Given the description of an element on the screen output the (x, y) to click on. 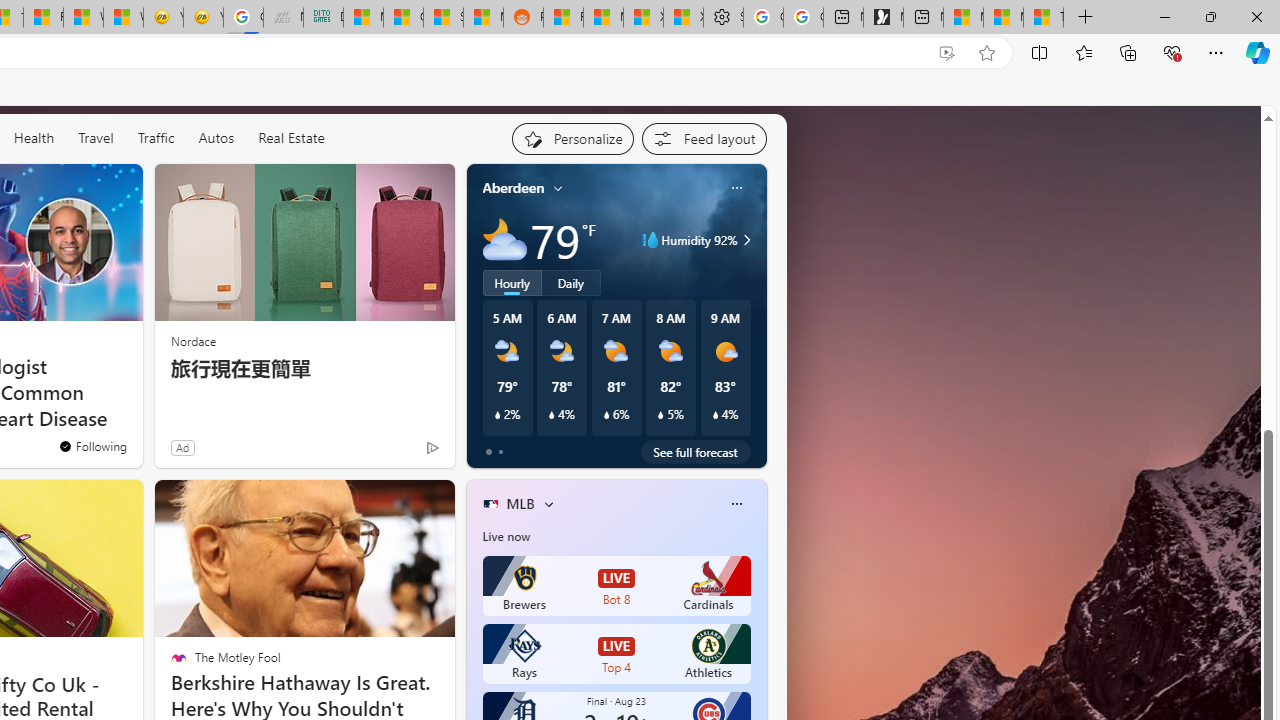
Enhance video (946, 53)
Brewers LIVE Bot 8 Cardinals (616, 585)
tab-1 (500, 451)
Feed settings (703, 138)
Humidity 92% (744, 240)
My location (558, 187)
Ad (182, 447)
Ad Choice (432, 447)
Class: icon-img (736, 503)
These 3 Stocks Pay You More Than 5% to Own Them (1043, 17)
Microsoft Start (1003, 17)
